Given the description of an element on the screen output the (x, y) to click on. 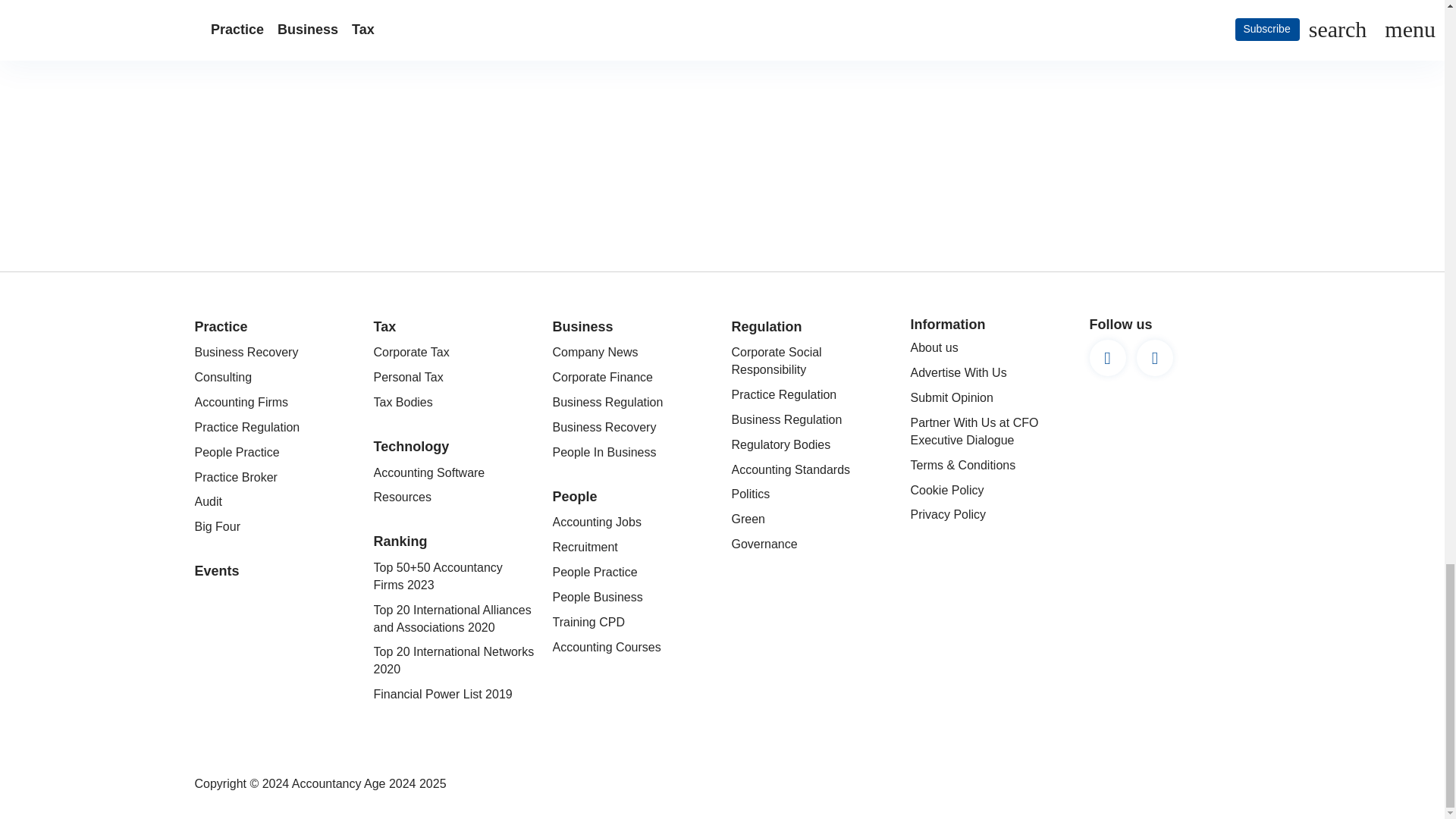
Practice (220, 326)
